Given the description of an element on the screen output the (x, y) to click on. 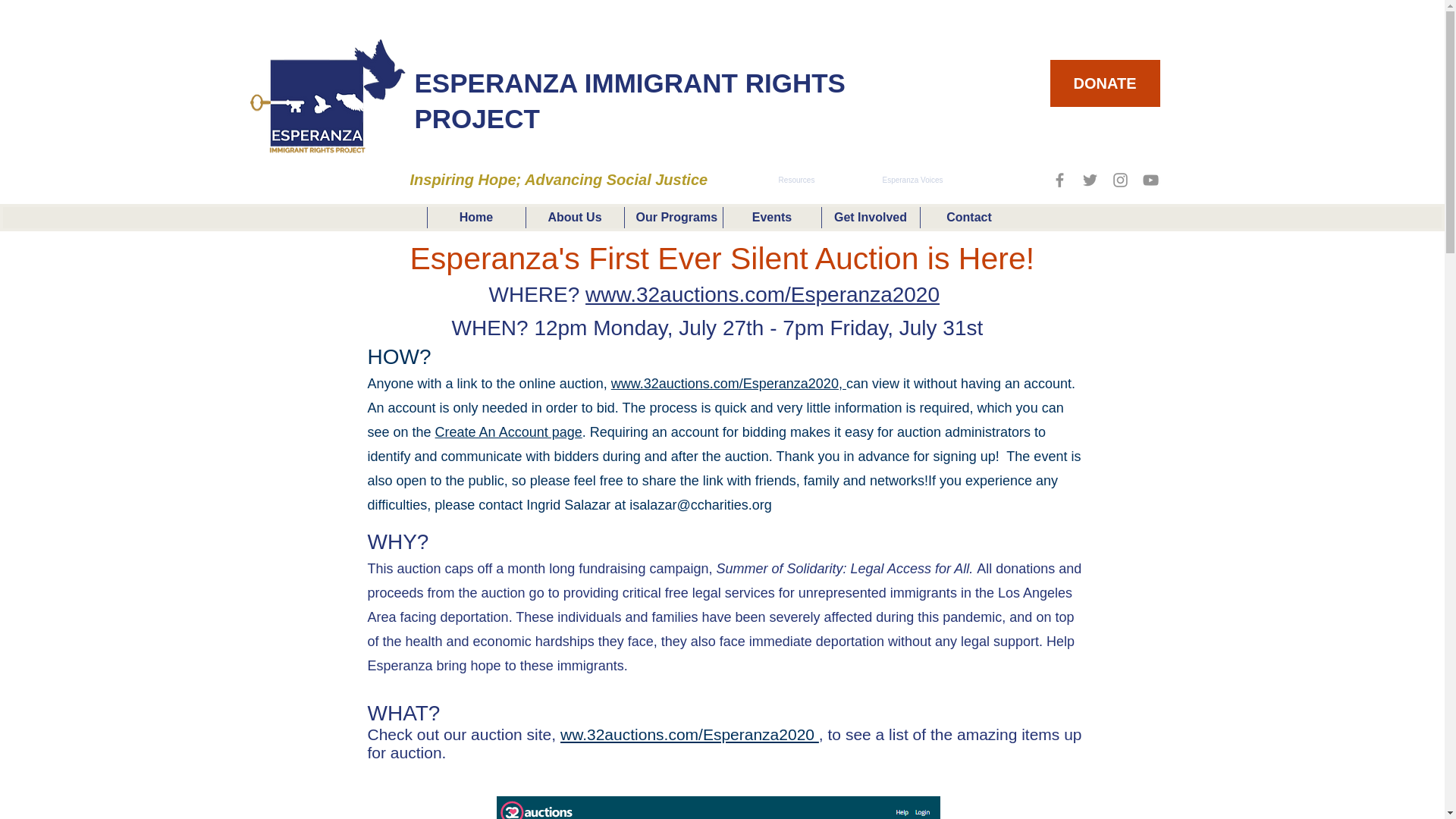
Get Involved (869, 216)
Create An Account page (508, 432)
Home (475, 216)
DONATE (1103, 83)
Resources (796, 179)
WHERE?  (536, 293)
Contact (967, 216)
ESPERANZA IMMIGRANT RIGHTS PROJECT (628, 100)
Our Programs (672, 216)
Events (771, 216)
